Given the description of an element on the screen output the (x, y) to click on. 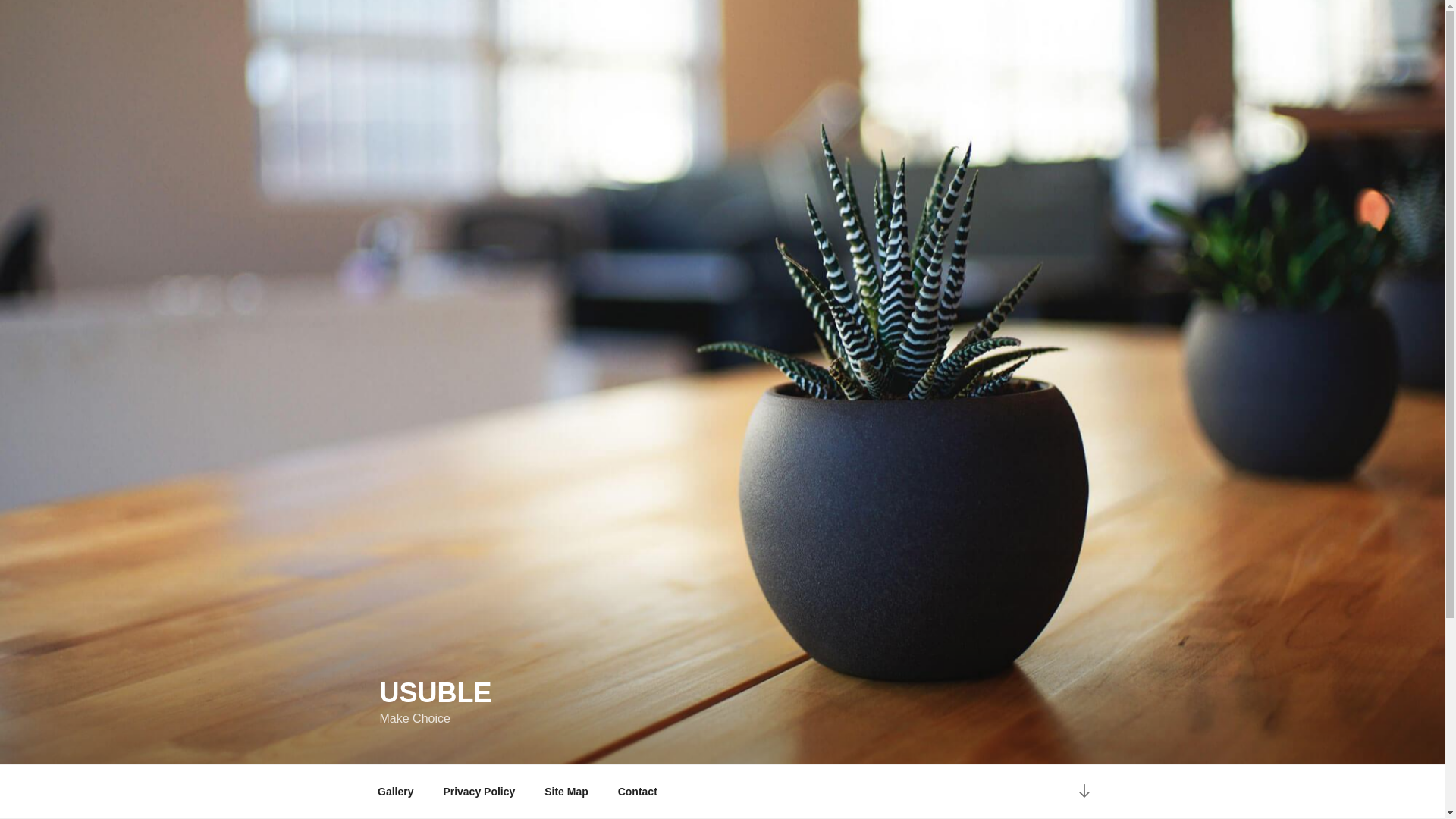
Contact Element type: text (637, 791)
Site Map Element type: text (566, 791)
Gallery Element type: text (395, 791)
USUBLE Element type: text (435, 692)
Privacy Policy Element type: text (478, 791)
